Given the description of an element on the screen output the (x, y) to click on. 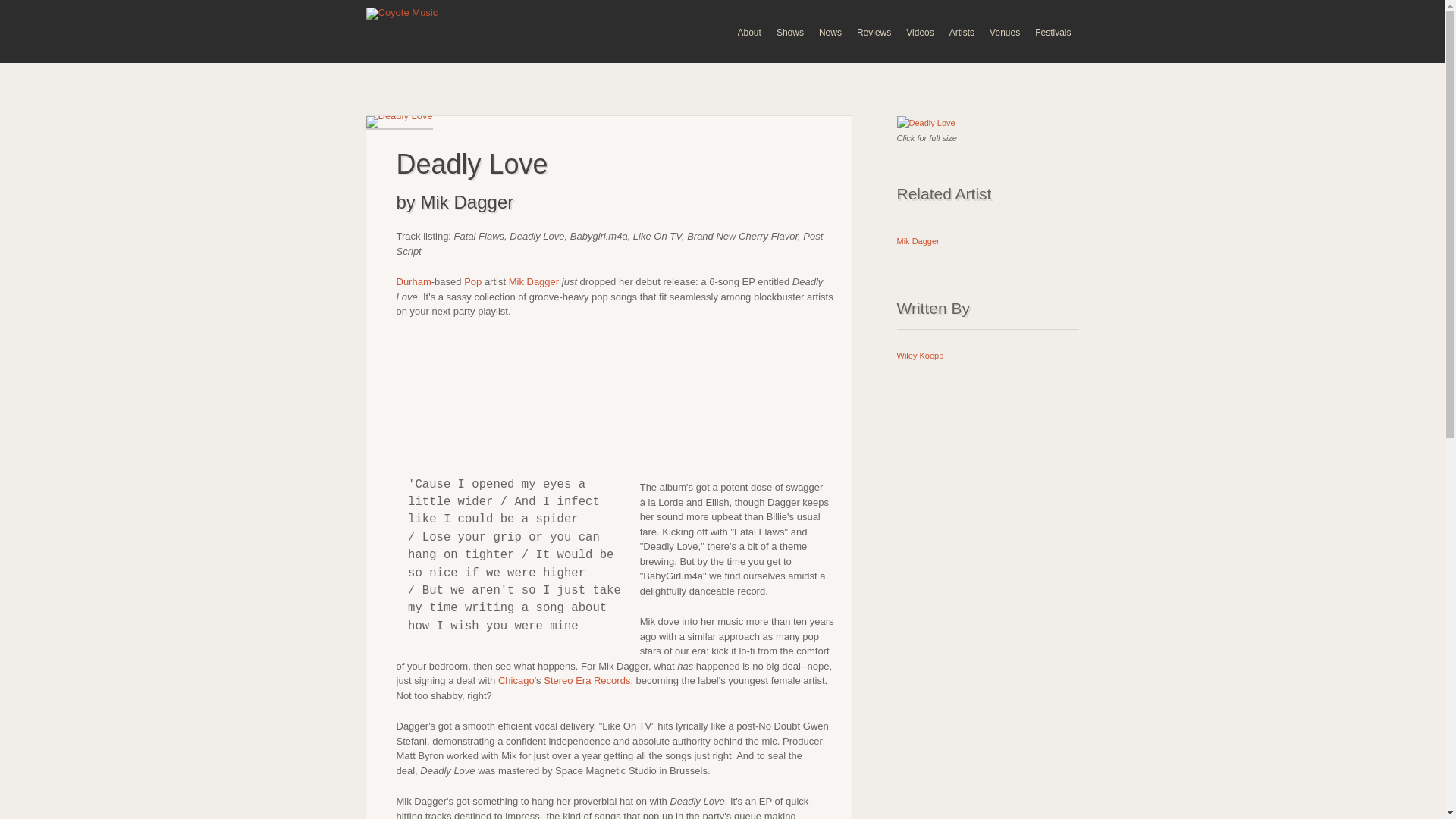
Mik Dagger (917, 240)
Wiley Koepp (919, 354)
Chicago (515, 680)
Pop (472, 281)
Durham (413, 281)
Stereo Era Records (586, 680)
Mik Dagger (533, 281)
Deadly Love (925, 123)
